Given the description of an element on the screen output the (x, y) to click on. 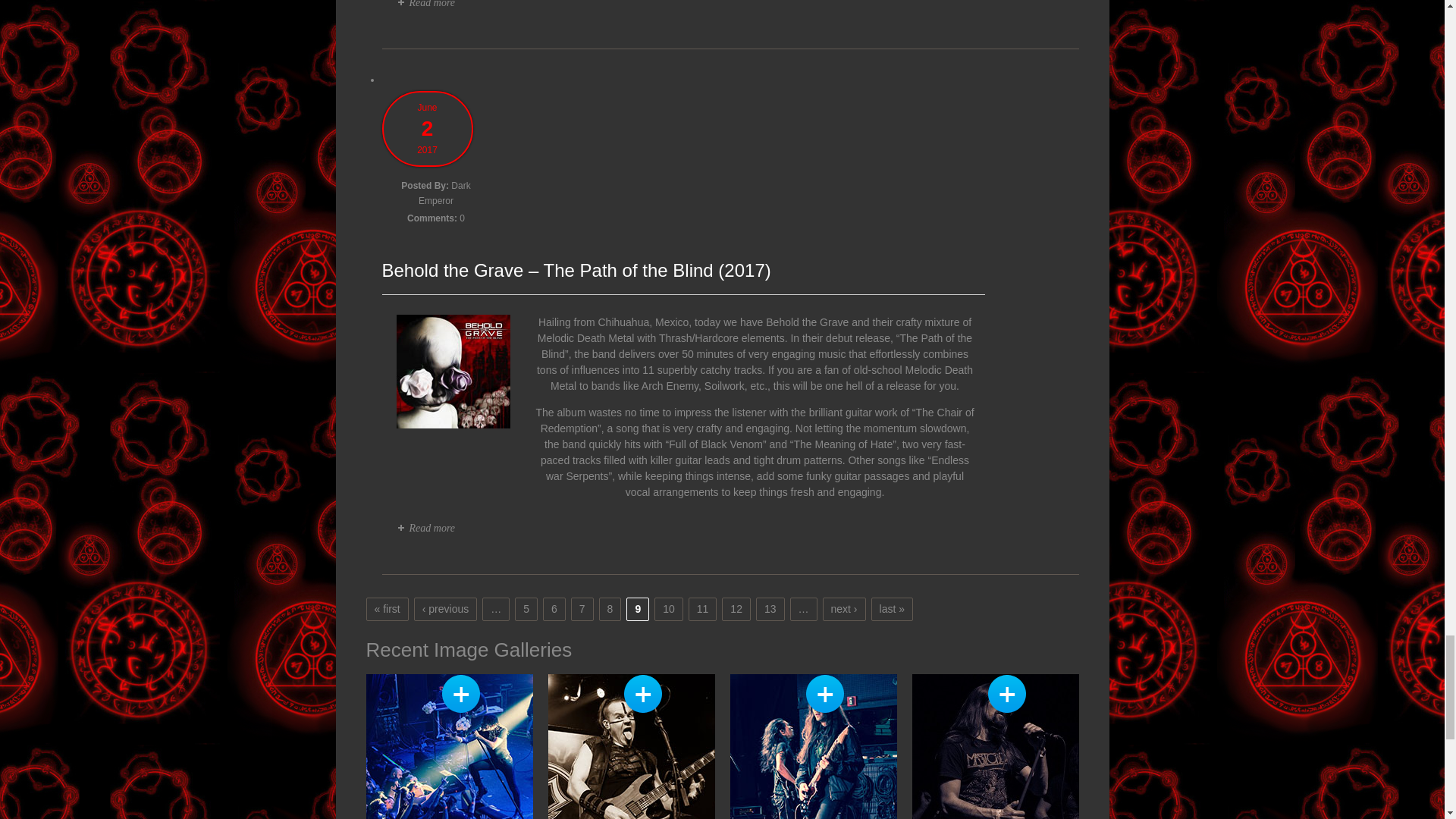
Go to previous page (445, 608)
Go to page 10 (668, 608)
12 (736, 608)
8 (609, 608)
Go to first page (387, 608)
13 (770, 608)
7 (582, 608)
Go to page 8 (609, 608)
11 (703, 608)
Go to page 6 (554, 608)
Go to page 5 (525, 608)
10 (668, 608)
5 (525, 608)
Go to page 7 (582, 608)
6 (554, 608)
